Given the description of an element on the screen output the (x, y) to click on. 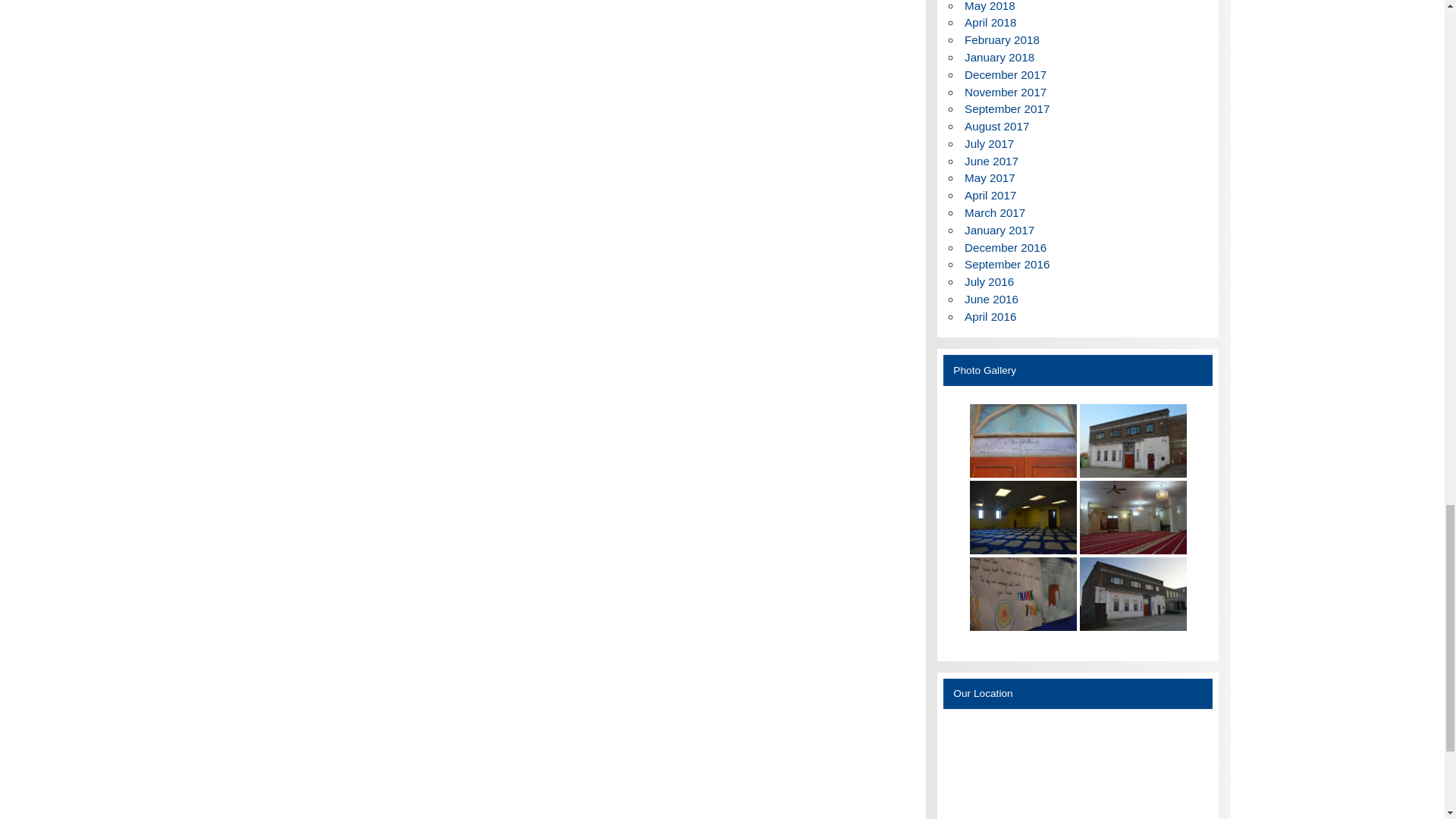
Untitled-6        (1023, 440)
Untitled-2        (1023, 593)
Untitled-3        (1133, 517)
Untitled-1        (1133, 593)
Untitled-4        (1023, 517)
Untitled-5        (1133, 440)
